Given the description of an element on the screen output the (x, y) to click on. 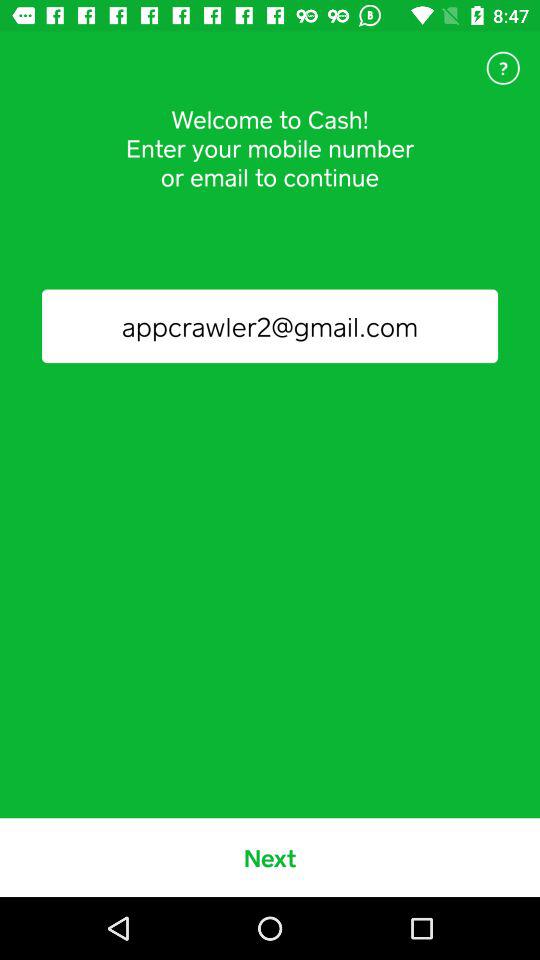
select the appcrawler2@gmail.com icon (269, 326)
